Given the description of an element on the screen output the (x, y) to click on. 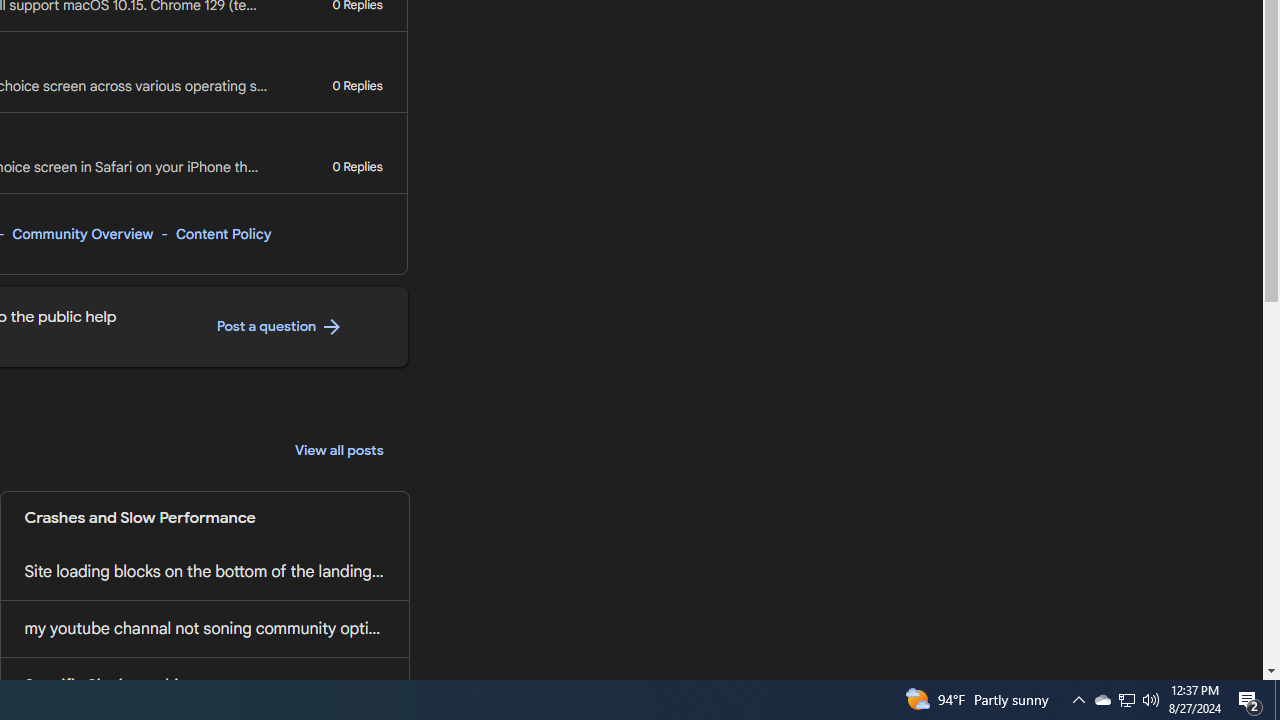
Content Policy (223, 233)
Community Overview (82, 233)
View all posts (339, 450)
Post a question  (280, 327)
